Given the description of an element on the screen output the (x, y) to click on. 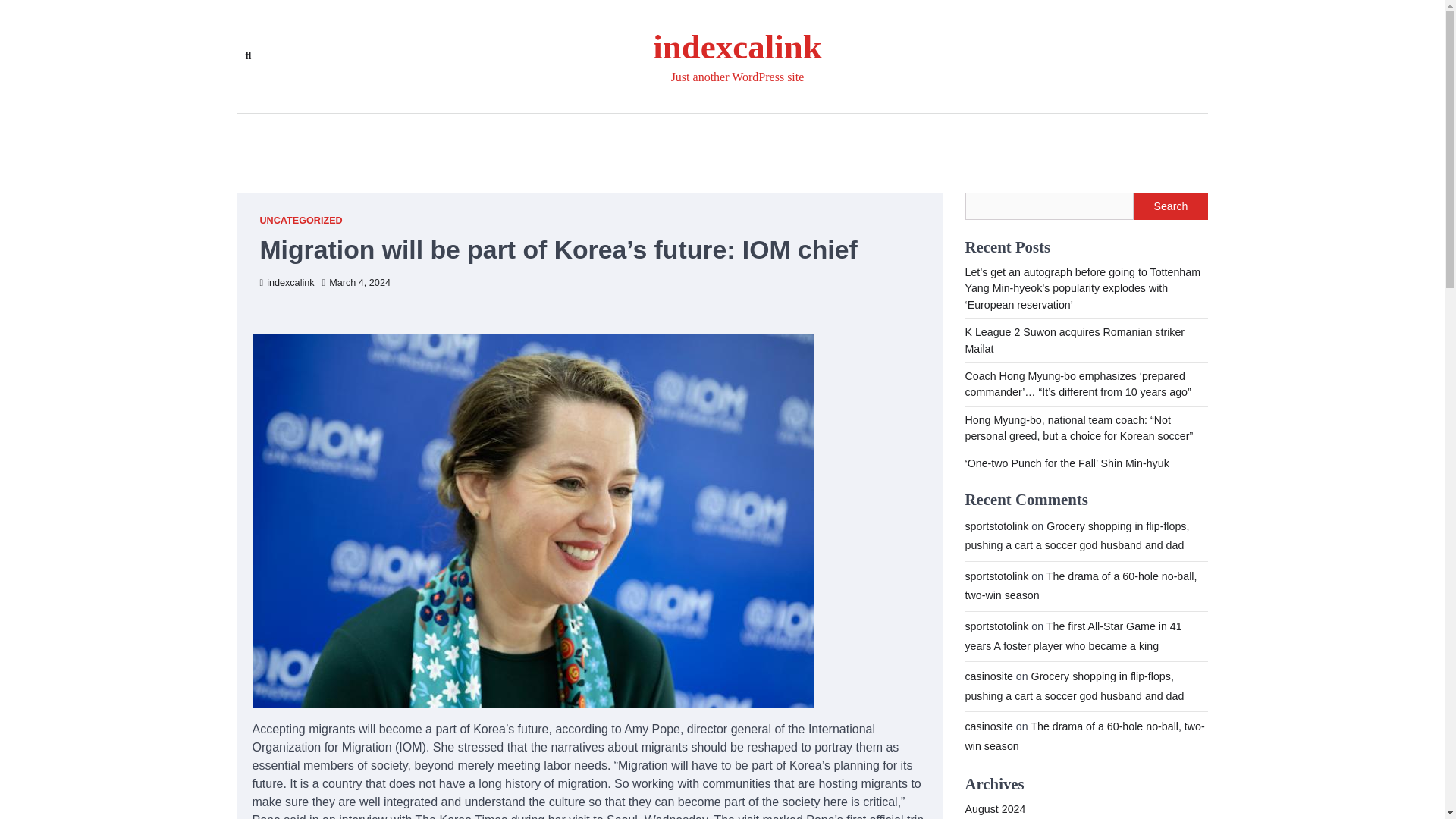
indexcalink (736, 47)
August 2024 (994, 808)
sportstotolink (995, 526)
Search (247, 56)
indexcalink (286, 282)
Search (443, 91)
The drama of a 60-hole no-ball, two-win season (1079, 585)
sportstotolink (995, 625)
K League 2 Suwon acquires Romanian striker Mailat (1074, 339)
casinosite (987, 726)
casinosite (987, 676)
The drama of a 60-hole no-ball, two-win season (1083, 736)
Search (1170, 206)
